Given the description of an element on the screen output the (x, y) to click on. 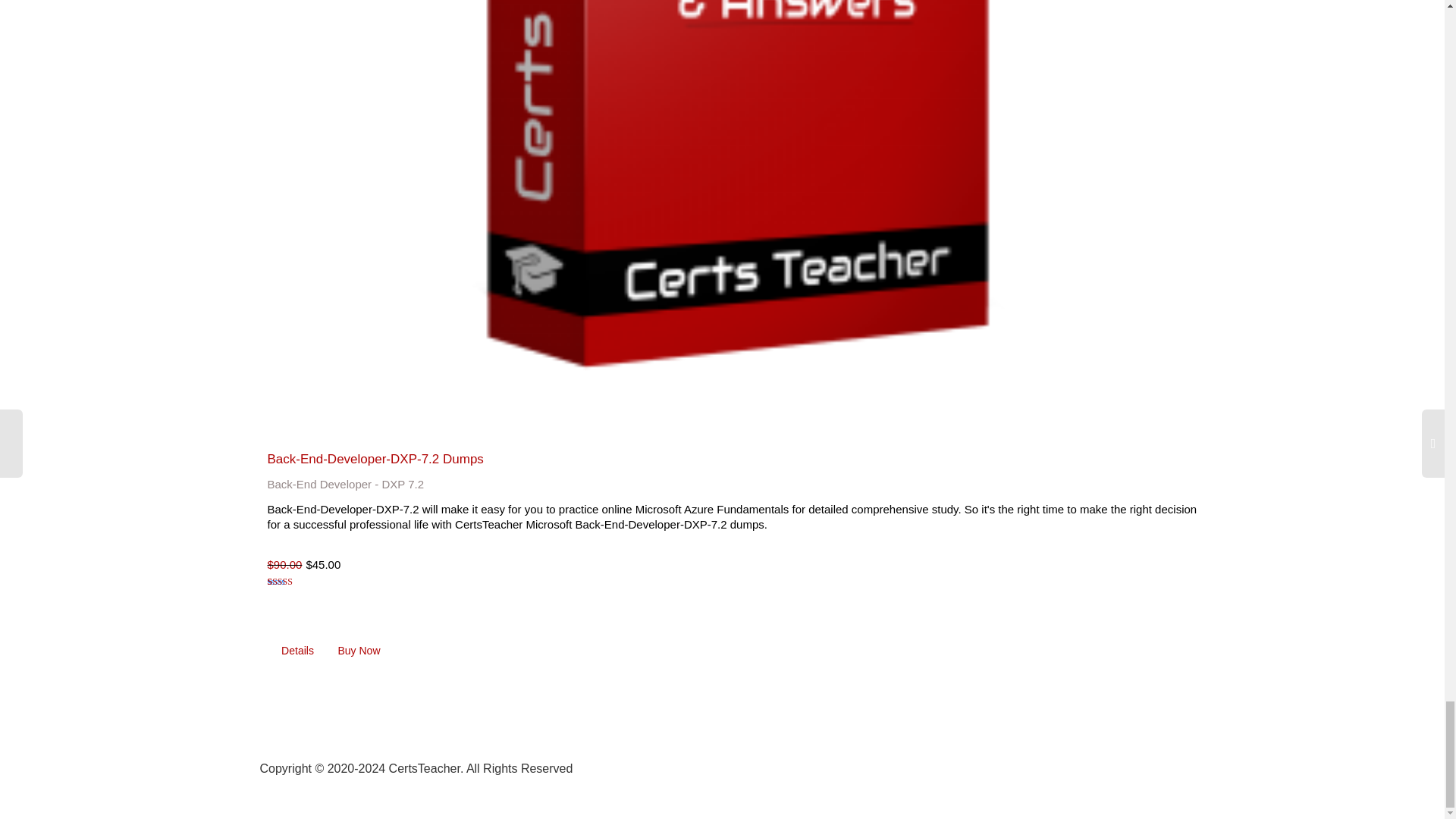
Details (296, 651)
Home (936, 765)
Buy Now (358, 651)
Back-End-Developer-DXP-7.2 Dumps (374, 459)
